Given the description of an element on the screen output the (x, y) to click on. 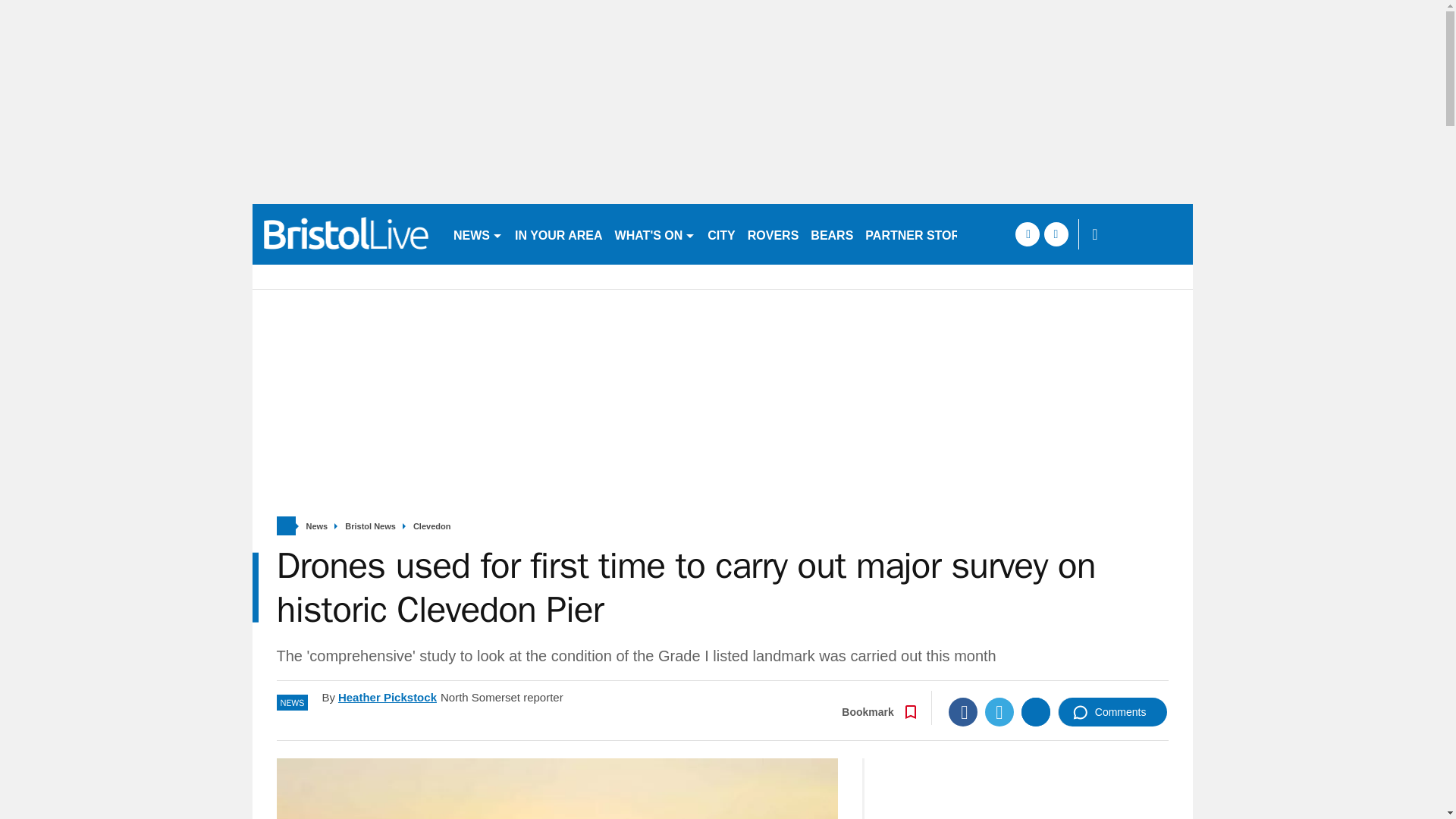
Facebook (962, 711)
ROVERS (773, 233)
twitter (1055, 233)
BEARS (832, 233)
Twitter (999, 711)
WHAT'S ON (654, 233)
PARTNER STORIES (922, 233)
facebook (1026, 233)
Comments (1112, 711)
bristolpost (345, 233)
